Given the description of an element on the screen output the (x, y) to click on. 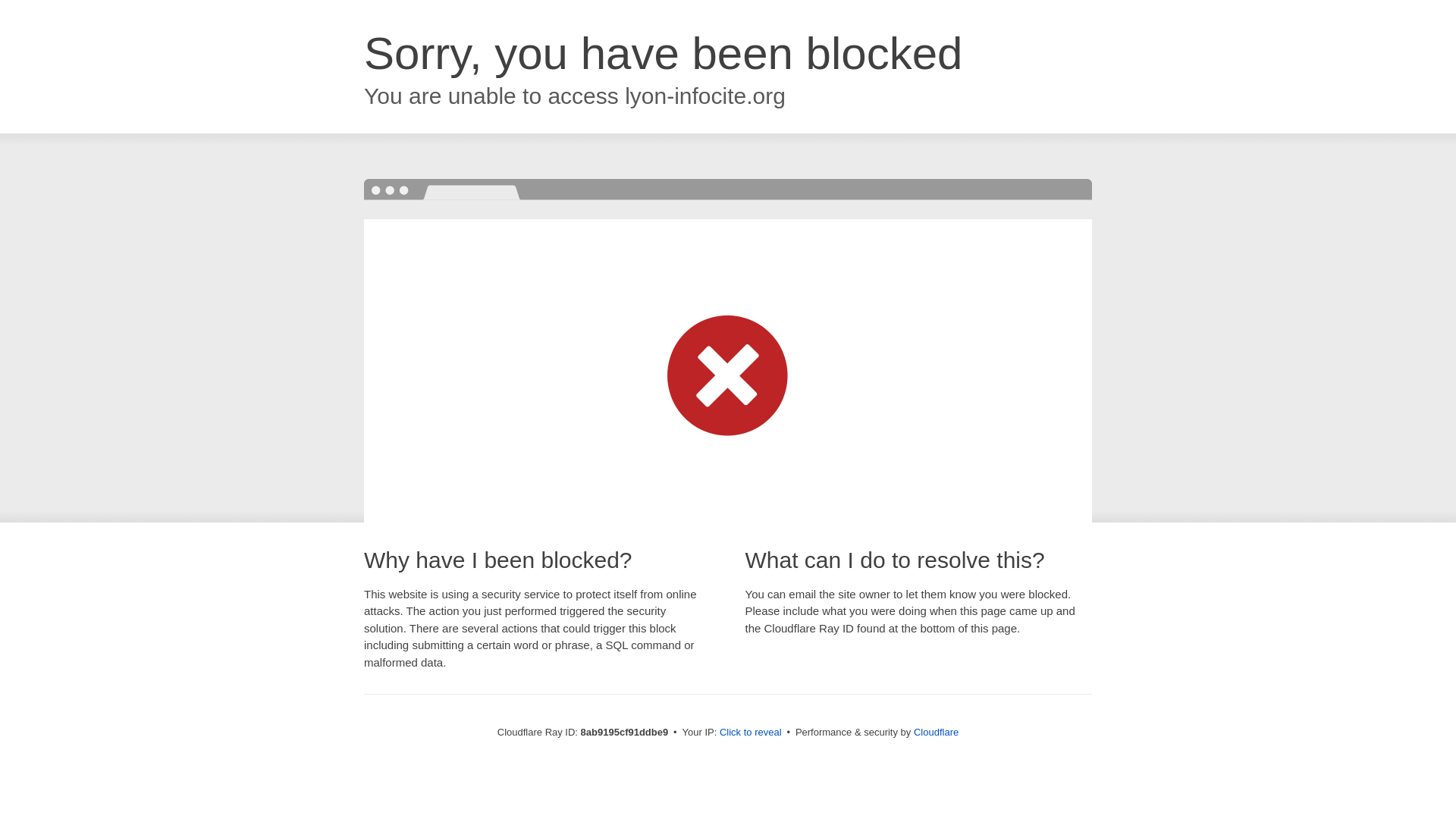
Cloudflare (936, 731)
Click to reveal (750, 732)
